Given the description of an element on the screen output the (x, y) to click on. 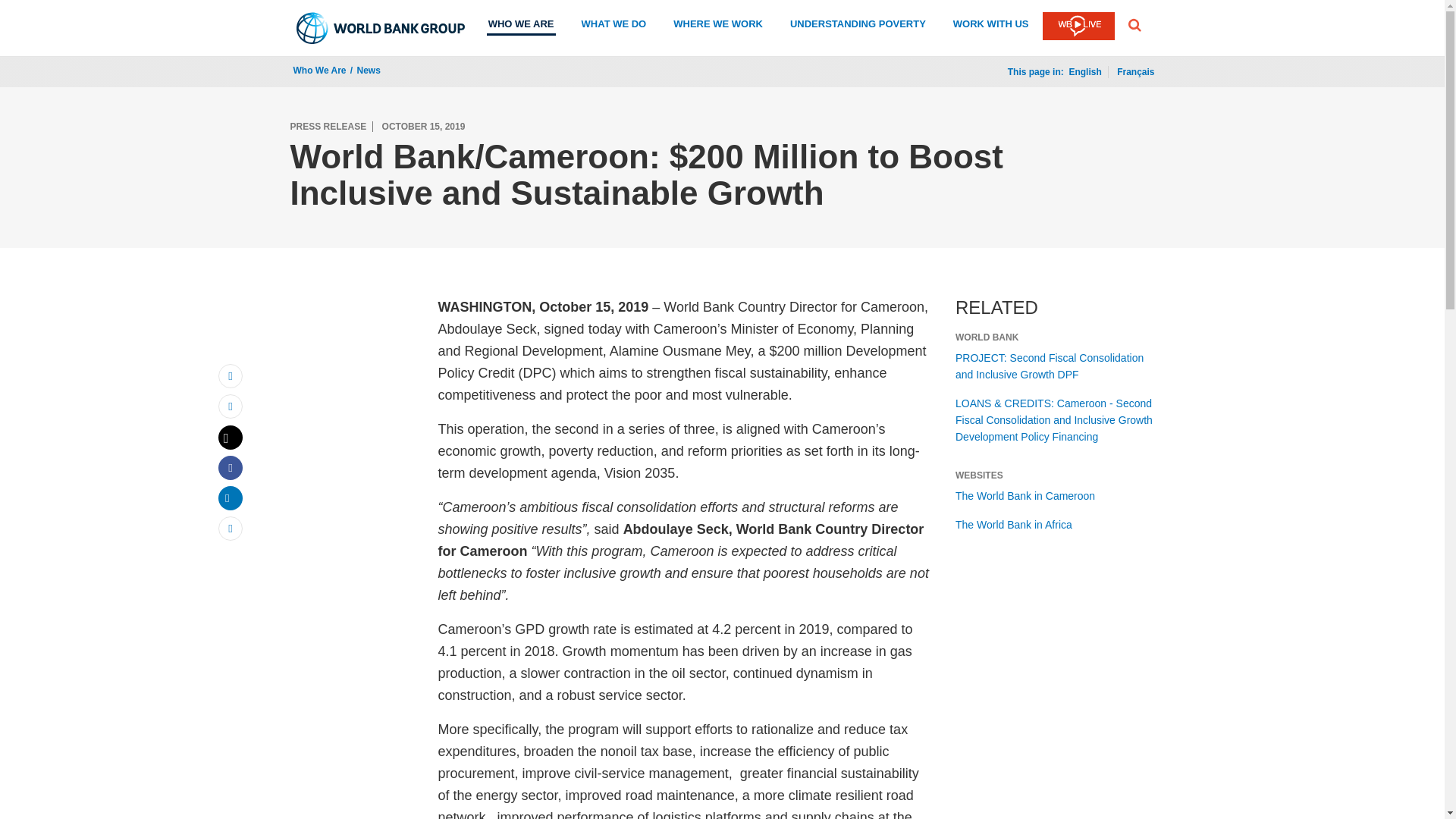
Email (230, 375)
Tweet (230, 437)
Print (230, 405)
Facebook (230, 467)
WHO WE ARE (521, 25)
The World Bank Group logo (380, 28)
WHAT WE DO (613, 25)
Global Search (1134, 24)
Share (230, 528)
